Given the description of an element on the screen output the (x, y) to click on. 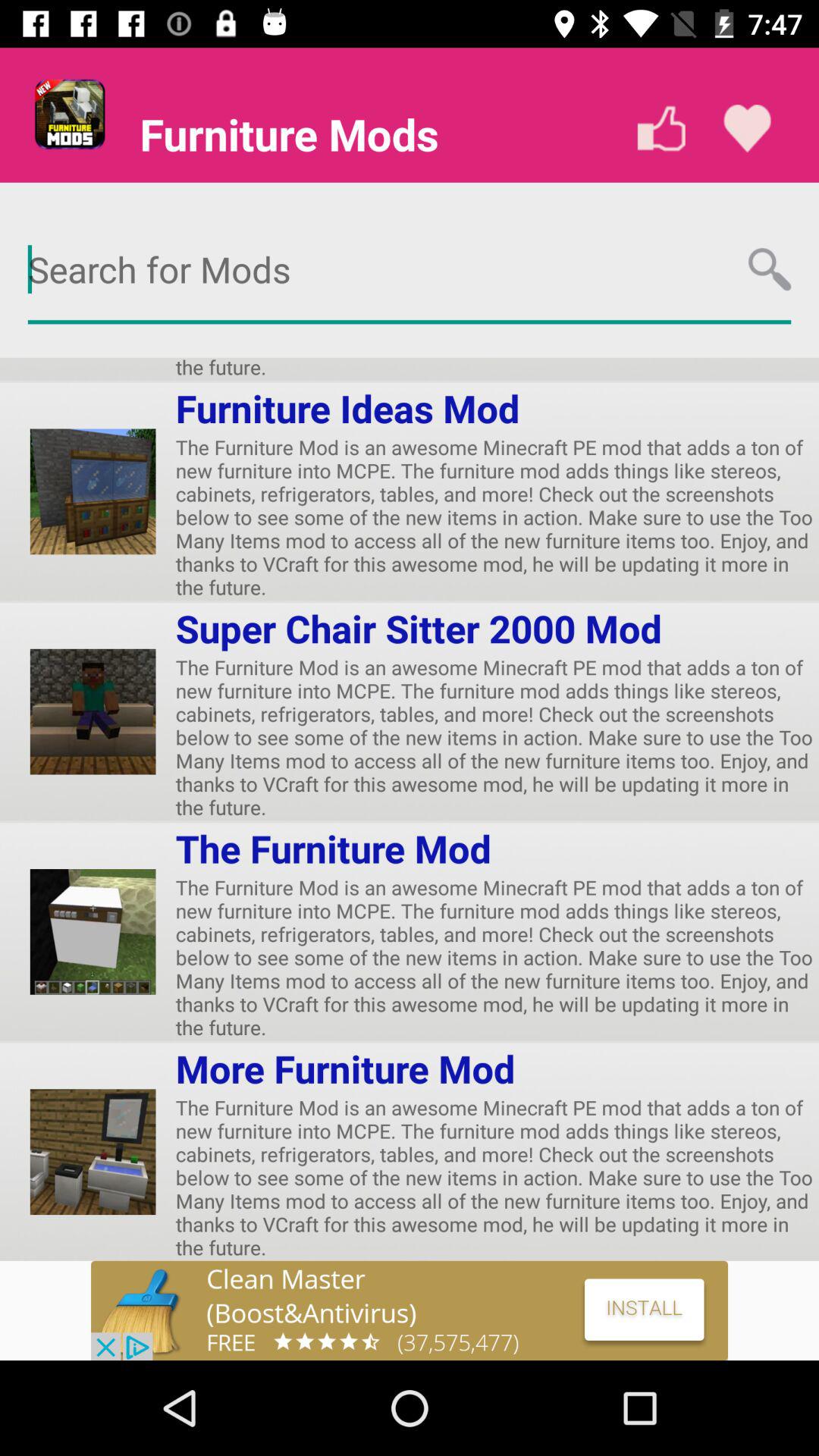
heart this item (747, 128)
